Given the description of an element on the screen output the (x, y) to click on. 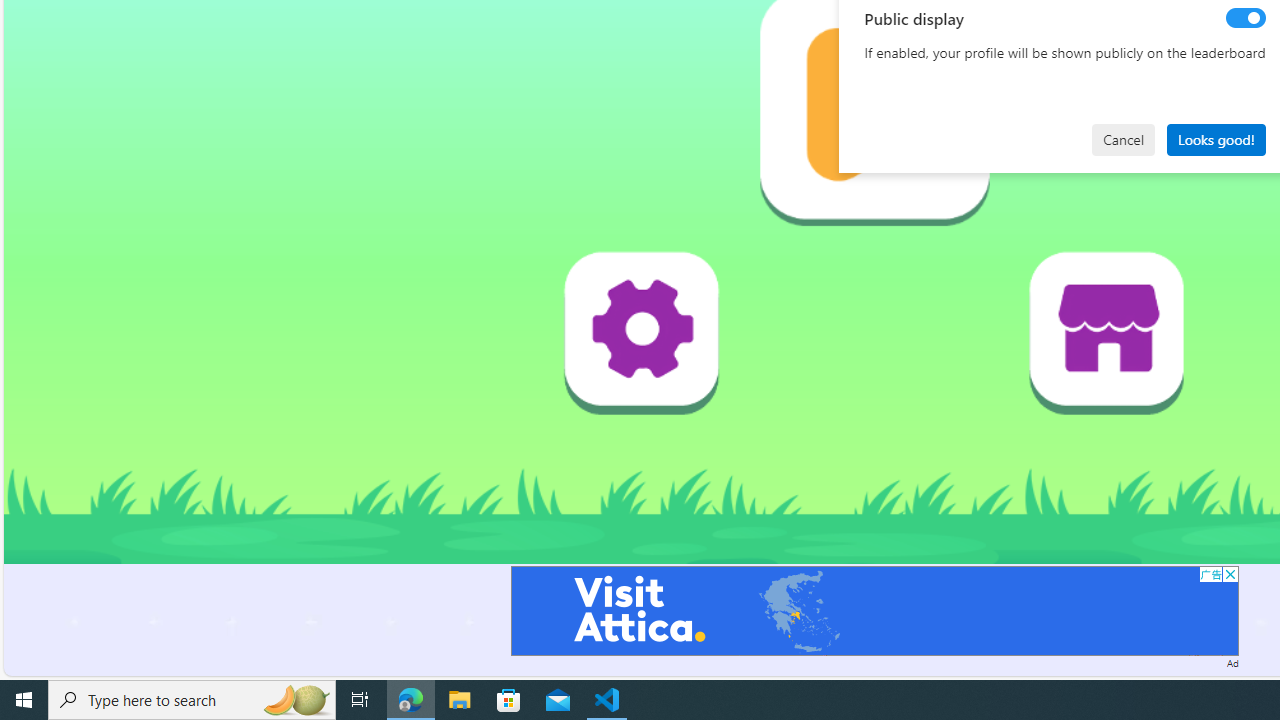
AutomationID: cbb (1229, 574)
Cancel (1123, 139)
Advertisement (874, 610)
Looks good! (1216, 139)
Advertisement (874, 610)
